Given the description of an element on the screen output the (x, y) to click on. 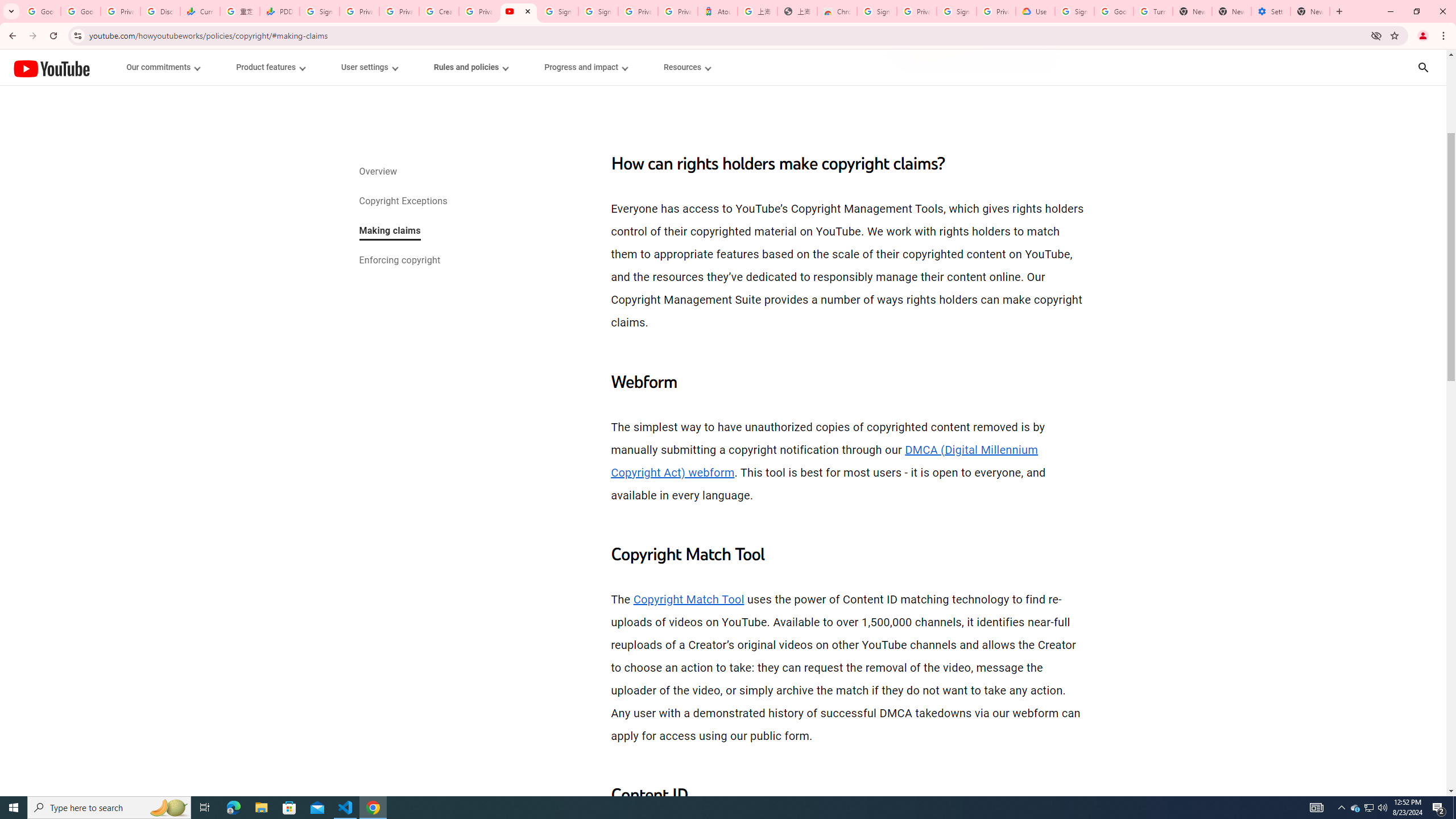
JUMP TO CONTENT (118, 67)
Atour Hotel - Google hotels (717, 11)
Chrome (1445, 35)
Bookmark this tab (1393, 35)
Turn cookies on or off - Computer - Google Account Help (1152, 11)
Sign in - Google Accounts (1074, 11)
Restore (1416, 11)
Create your Google Account (438, 11)
Sign in - Google Accounts (598, 11)
PDD Holdings Inc - ADR (PDD) Price & News - Google Finance (279, 11)
Currencies - Google Finance (199, 11)
Enforcing copyright (399, 261)
